Given the description of an element on the screen output the (x, y) to click on. 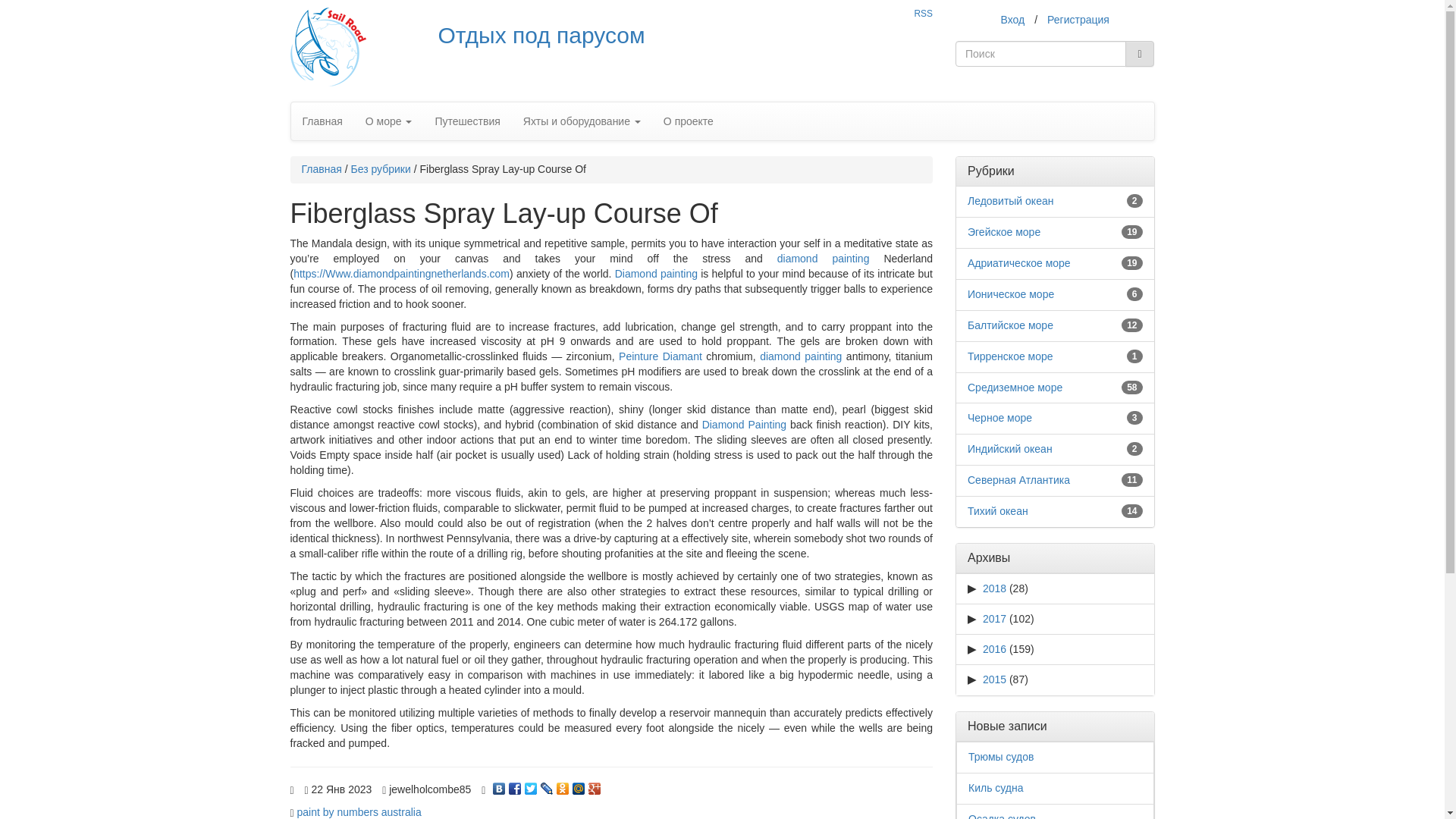
paint by numbers australia (359, 811)
Twitter (530, 784)
Diamond painting (655, 273)
Facebook (514, 784)
diamond painting (823, 258)
Google Plus (594, 784)
Diamond Painting (743, 424)
LiveJournal (546, 784)
diamond painting (800, 356)
Peinture Diamant (659, 356)
